Given the description of an element on the screen output the (x, y) to click on. 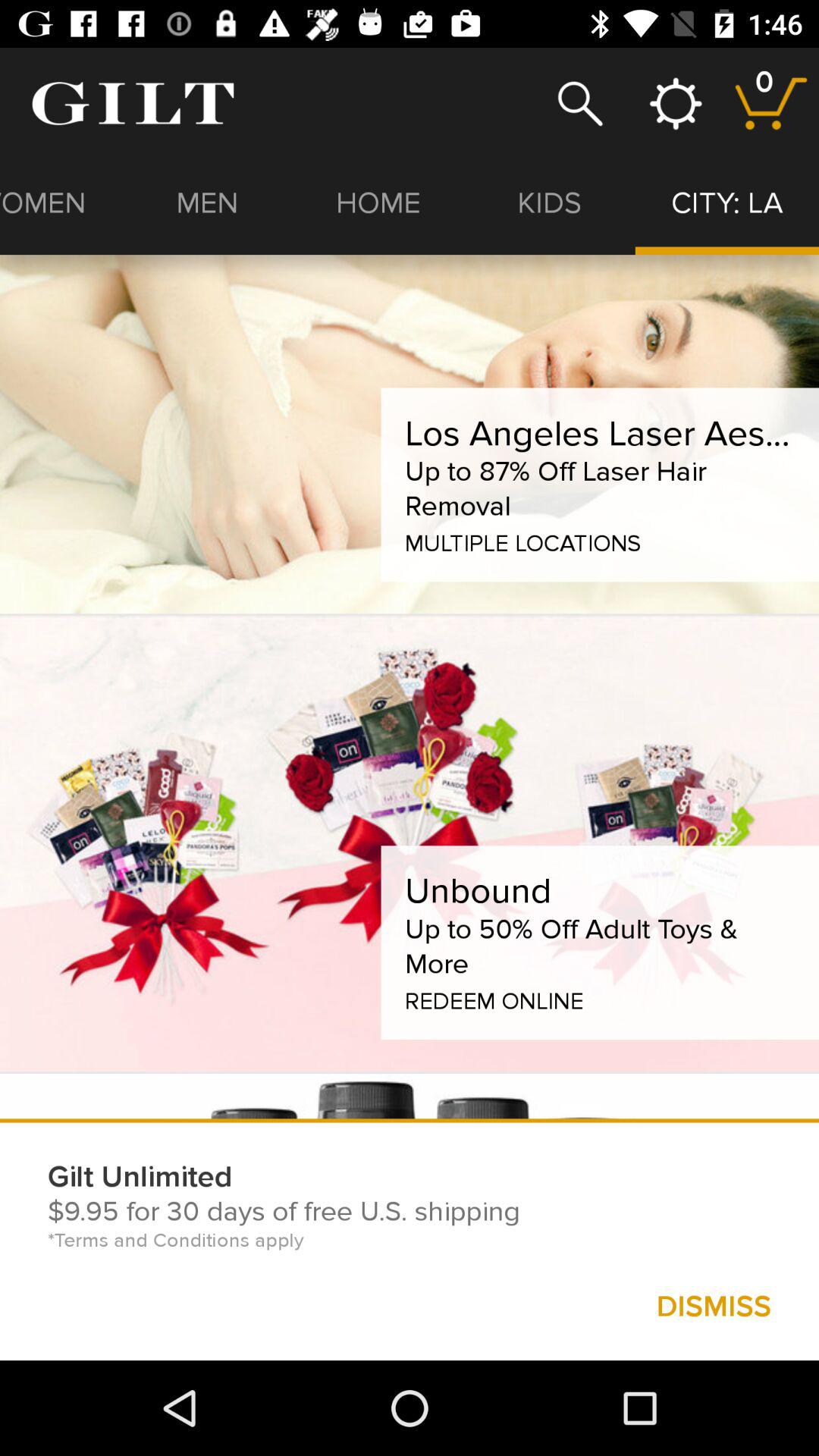
turn on the item below the home (599, 433)
